Given the description of an element on the screen output the (x, y) to click on. 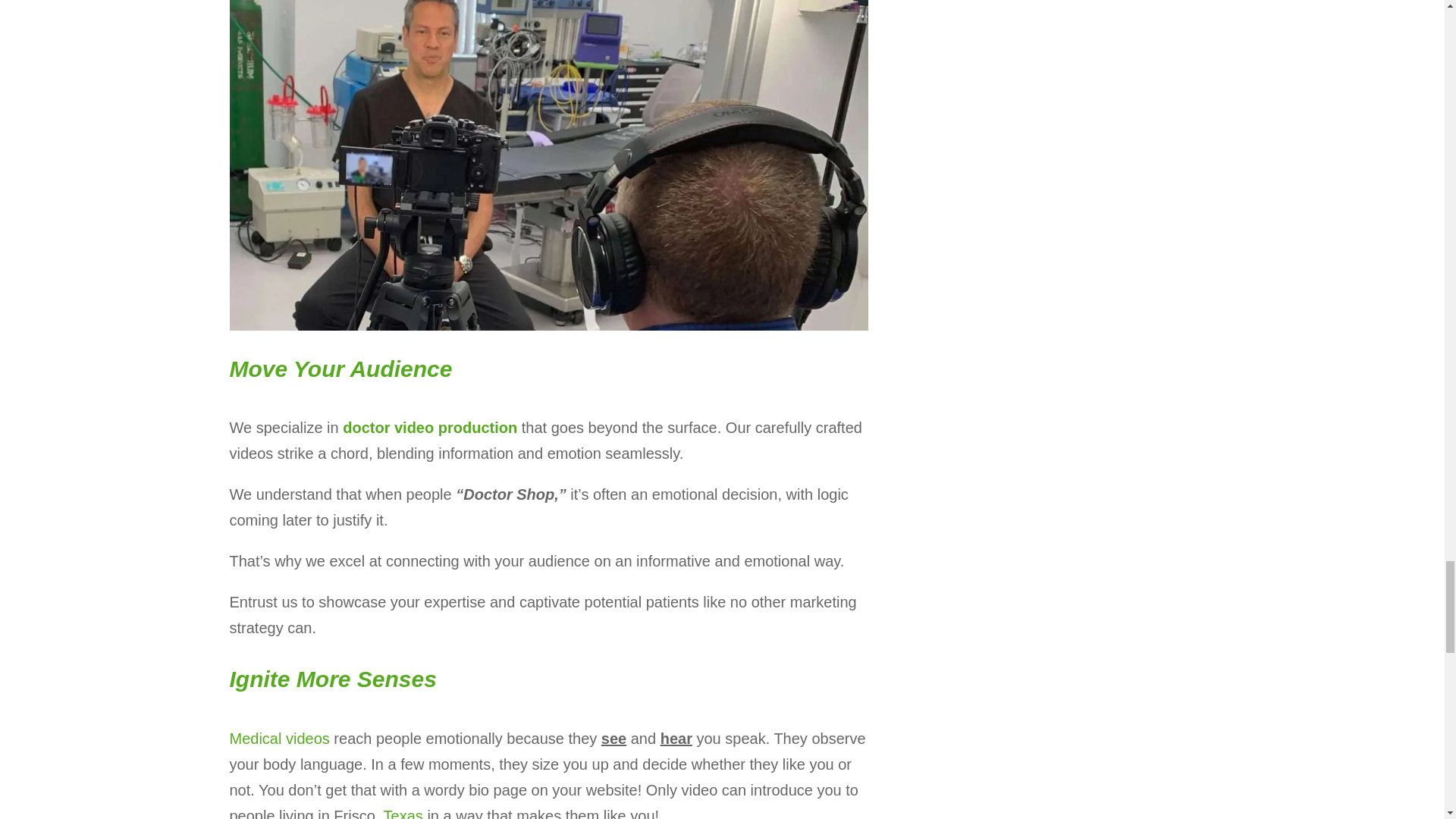
doctor video production (429, 427)
Texas (403, 813)
